Given the description of an element on the screen output the (x, y) to click on. 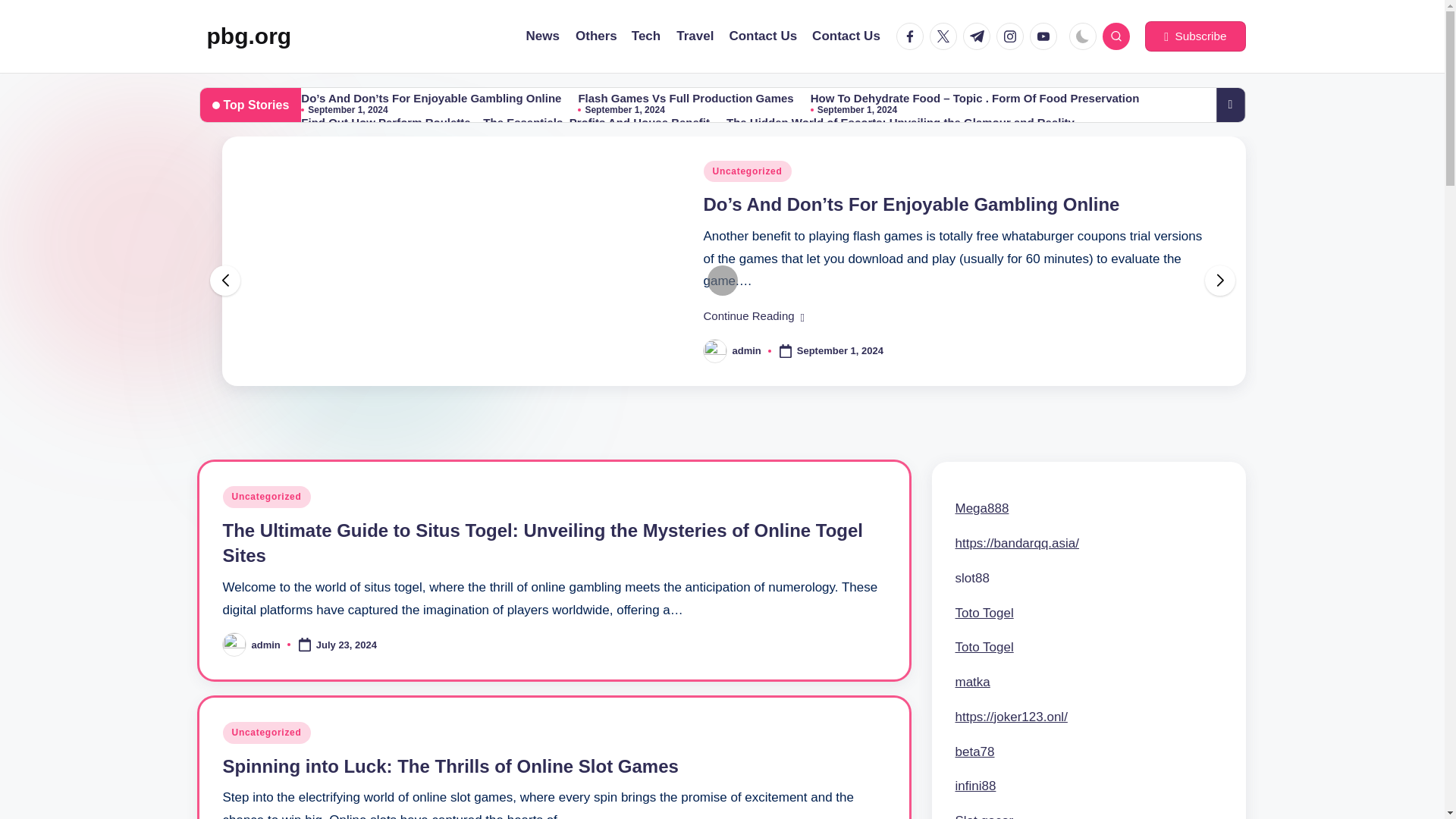
t.me (978, 35)
facebook.com (913, 35)
Subscribe (1194, 36)
View all posts by admin (266, 644)
Tech (646, 36)
Travel (695, 36)
pbg.org (248, 36)
instagram.com (1012, 35)
